Given the description of an element on the screen output the (x, y) to click on. 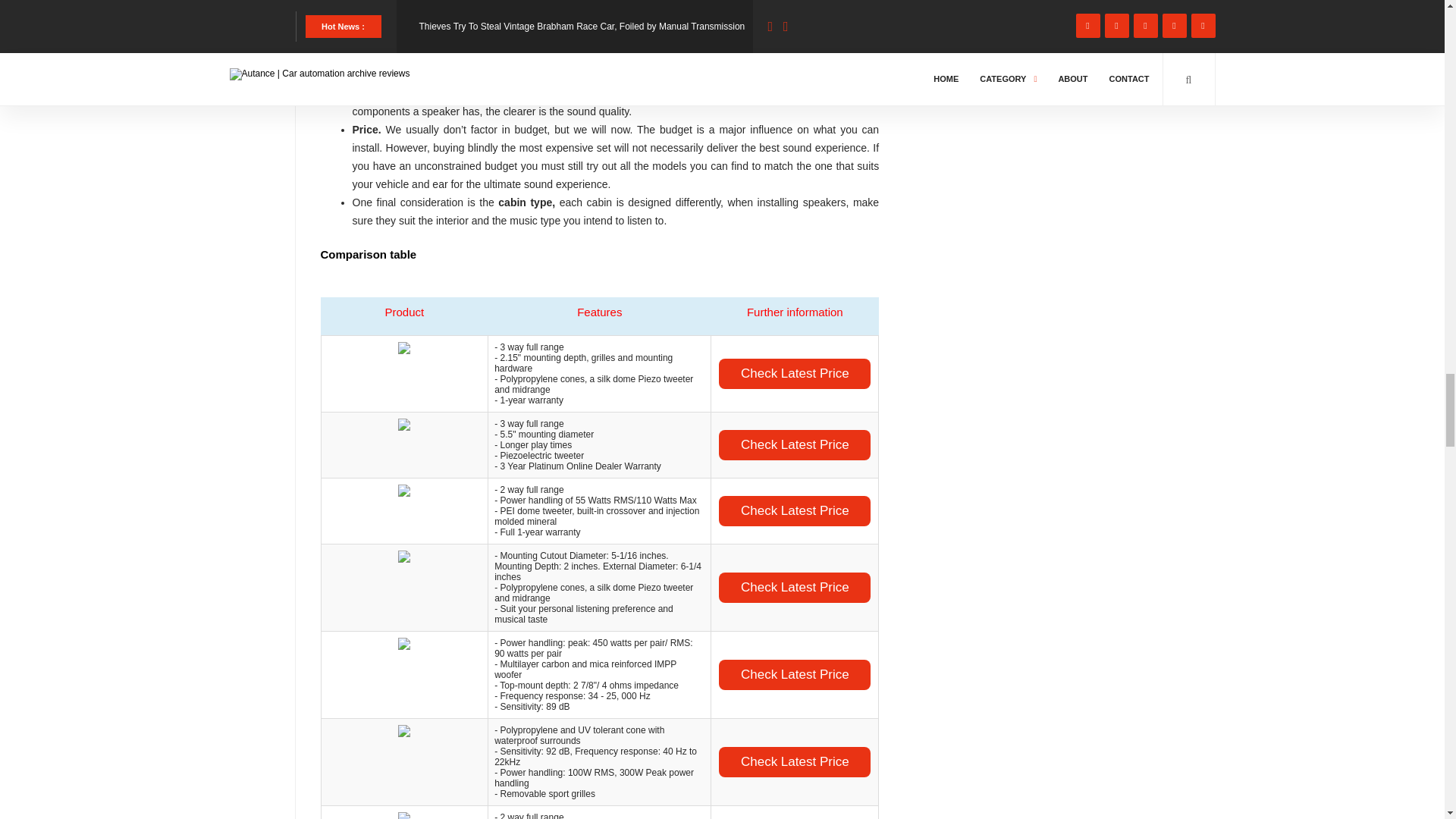
Check Latest Price (794, 444)
Check Latest Price (794, 373)
